Given the description of an element on the screen output the (x, y) to click on. 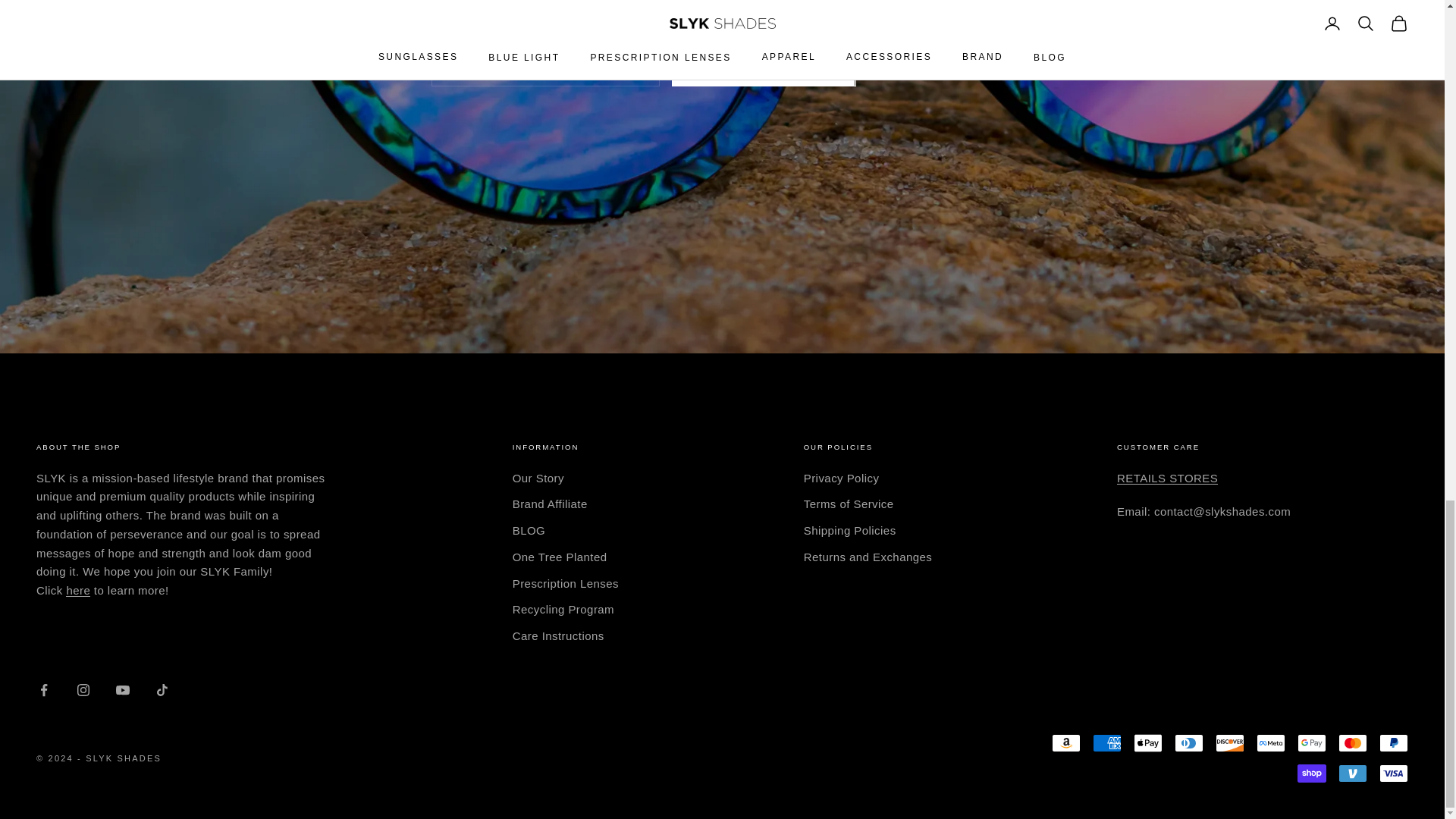
Our Story (77, 590)
